Given the description of an element on the screen output the (x, y) to click on. 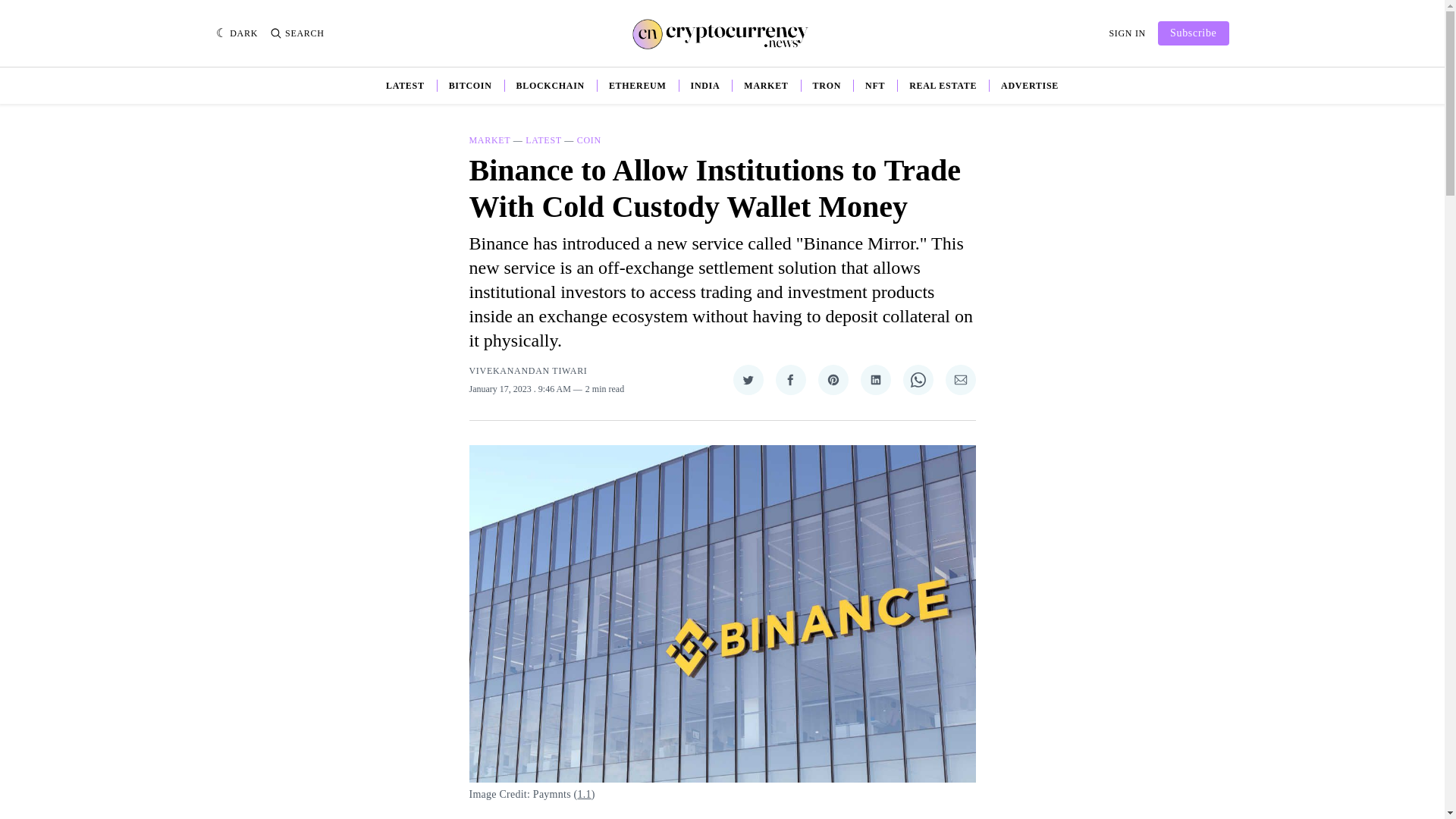
LATEST (542, 140)
Share on Pinterest (831, 379)
INDIA (705, 85)
Share on WhatsApp (917, 379)
BITCOIN (470, 85)
BLOCKCHAIN (550, 85)
Dark (236, 32)
Share on Twitter (747, 379)
1.1 (584, 794)
COIN (588, 140)
Share via Email (959, 379)
LATEST (405, 85)
ADVERTISE (1029, 85)
NFT (874, 85)
REAL ESTATE (942, 85)
